Given the description of an element on the screen output the (x, y) to click on. 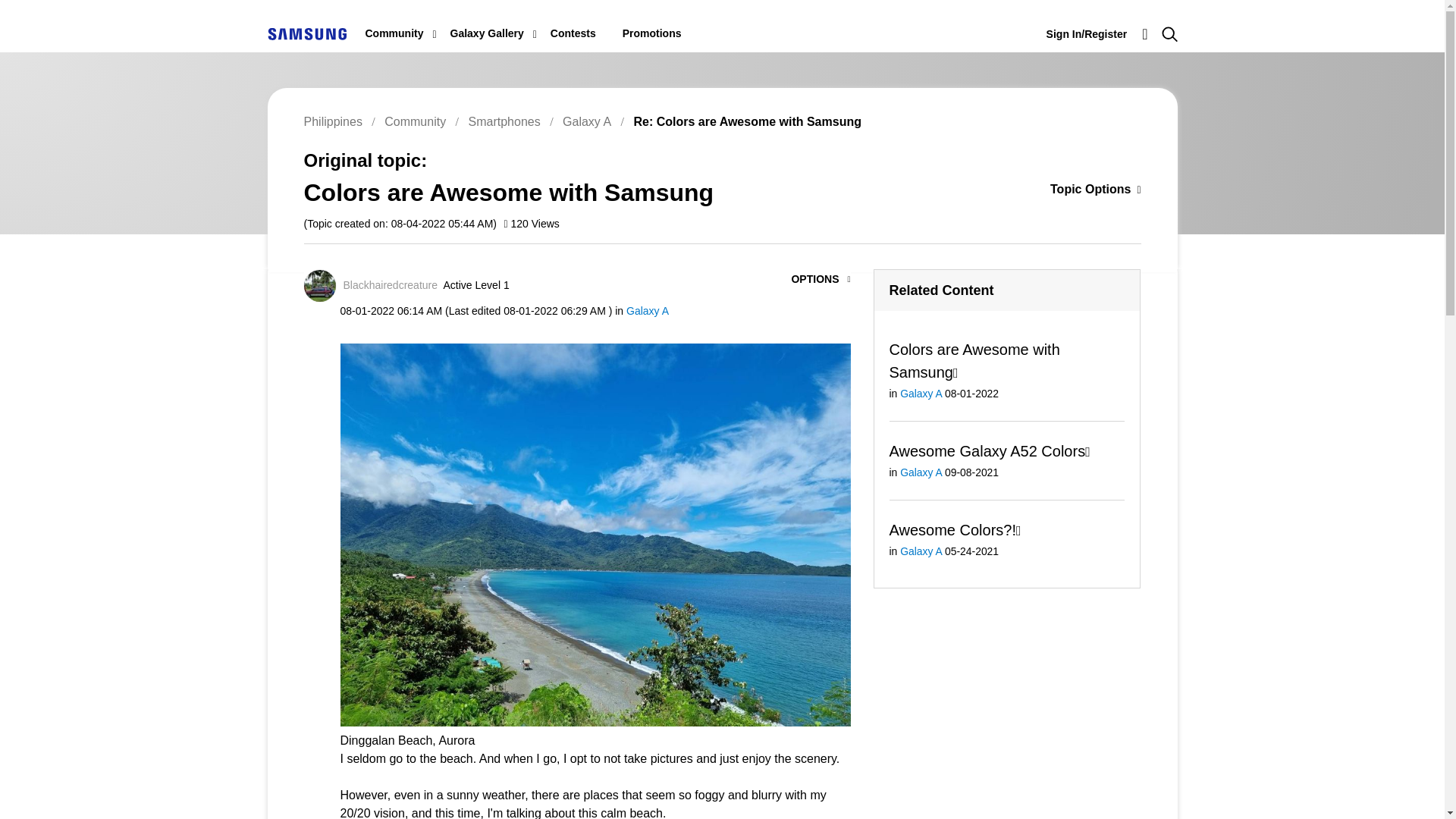
Community (394, 33)
Contests (572, 33)
Philippines (306, 33)
Smartphones (504, 121)
Galaxy Gallery (486, 33)
Community (394, 33)
Contests (572, 33)
Galaxy Gallery (486, 33)
Promotions (652, 33)
Topic Options (1072, 189)
